Given the description of an element on the screen output the (x, y) to click on. 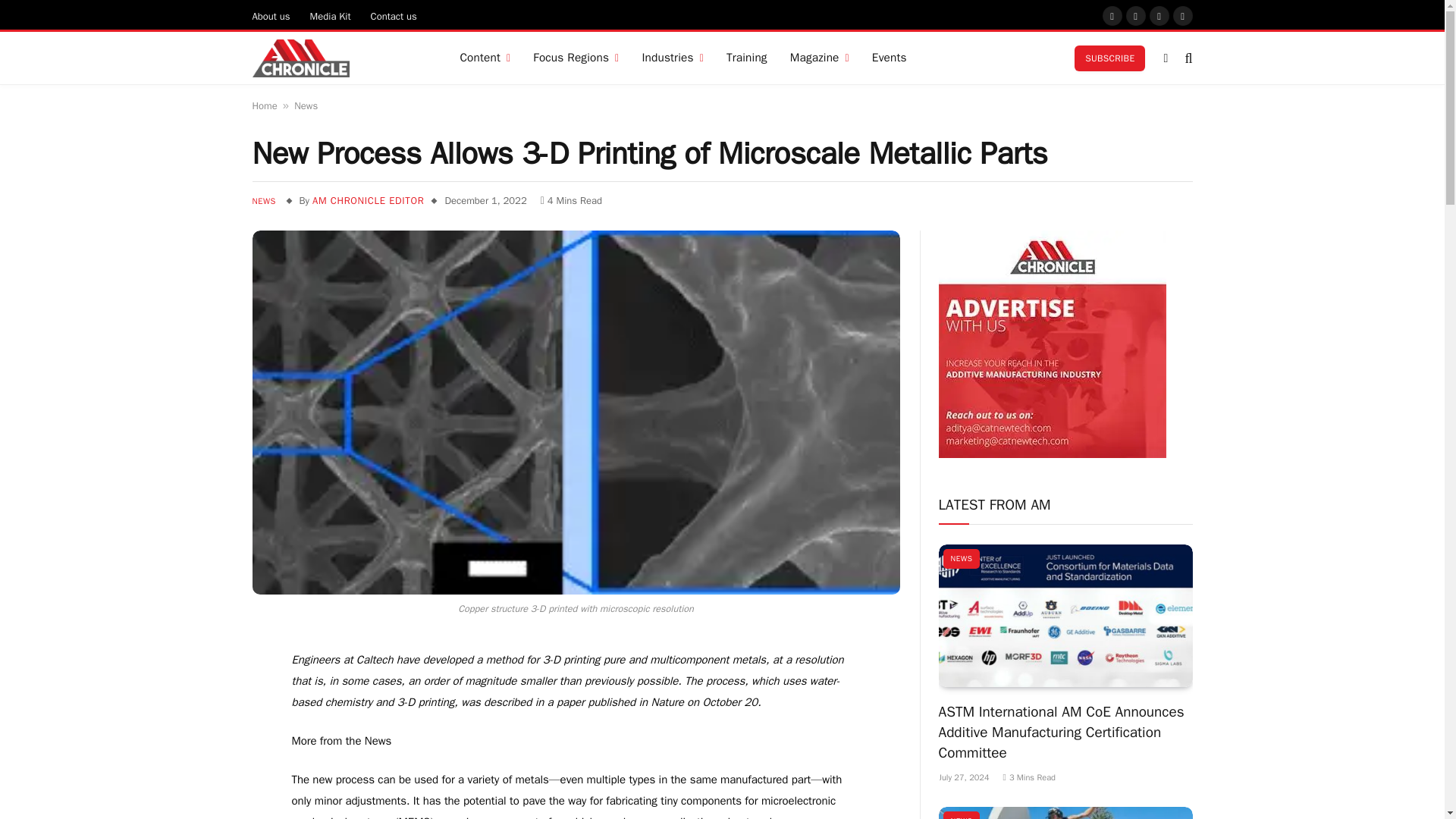
LinkedIn (1182, 15)
Media Kit (330, 15)
Content (484, 57)
Contact us (393, 15)
About us (271, 15)
YouTube (1159, 15)
Instagram (1135, 15)
Facebook (1112, 15)
AM Chronicle (300, 58)
